Given the description of an element on the screen output the (x, y) to click on. 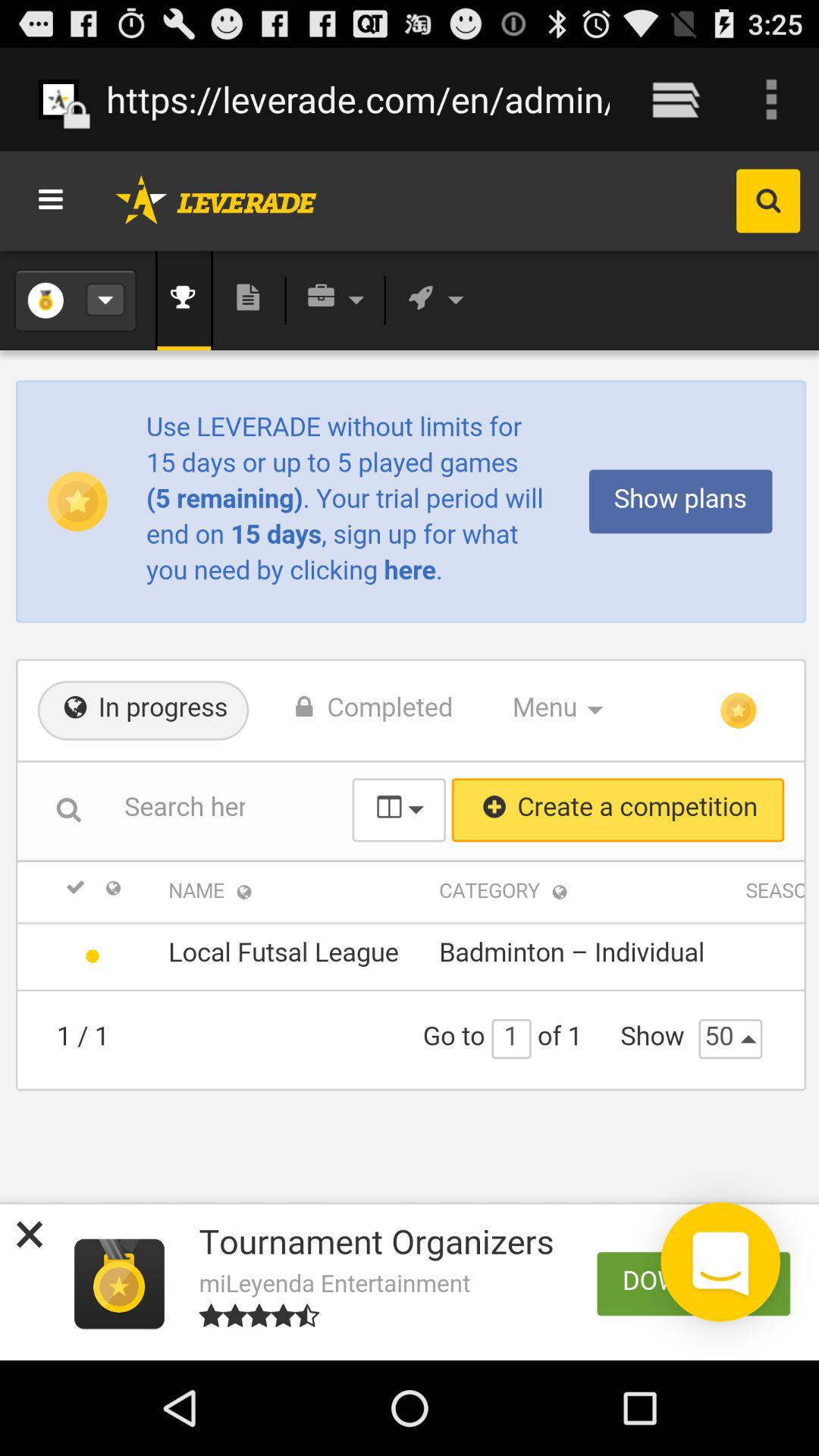
click item next to the https leverade com icon (675, 99)
